Given the description of an element on the screen output the (x, y) to click on. 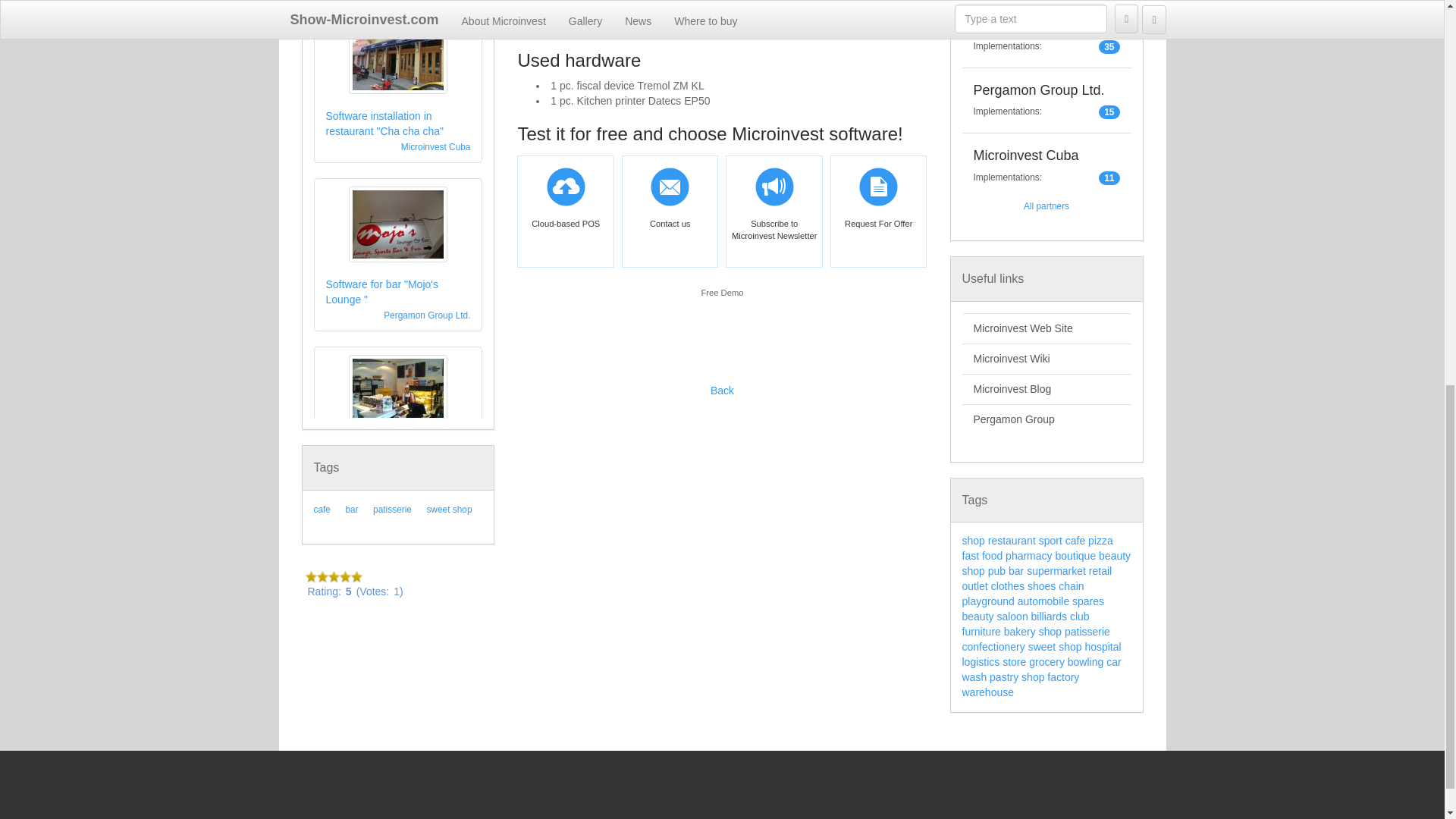
Software Solutions offer  Pergamon Group Ltd. (427, 314)
Software Solutions offer  Microinvest Cuba (435, 146)
Software for bar "Mojo's Lounge " (382, 291)
Software installation in restaurant "Cha cha cha" (385, 123)
Microinvest Cuba (435, 146)
Software installation in restaurant "Cha cha cha" (385, 123)
